Given the description of an element on the screen output the (x, y) to click on. 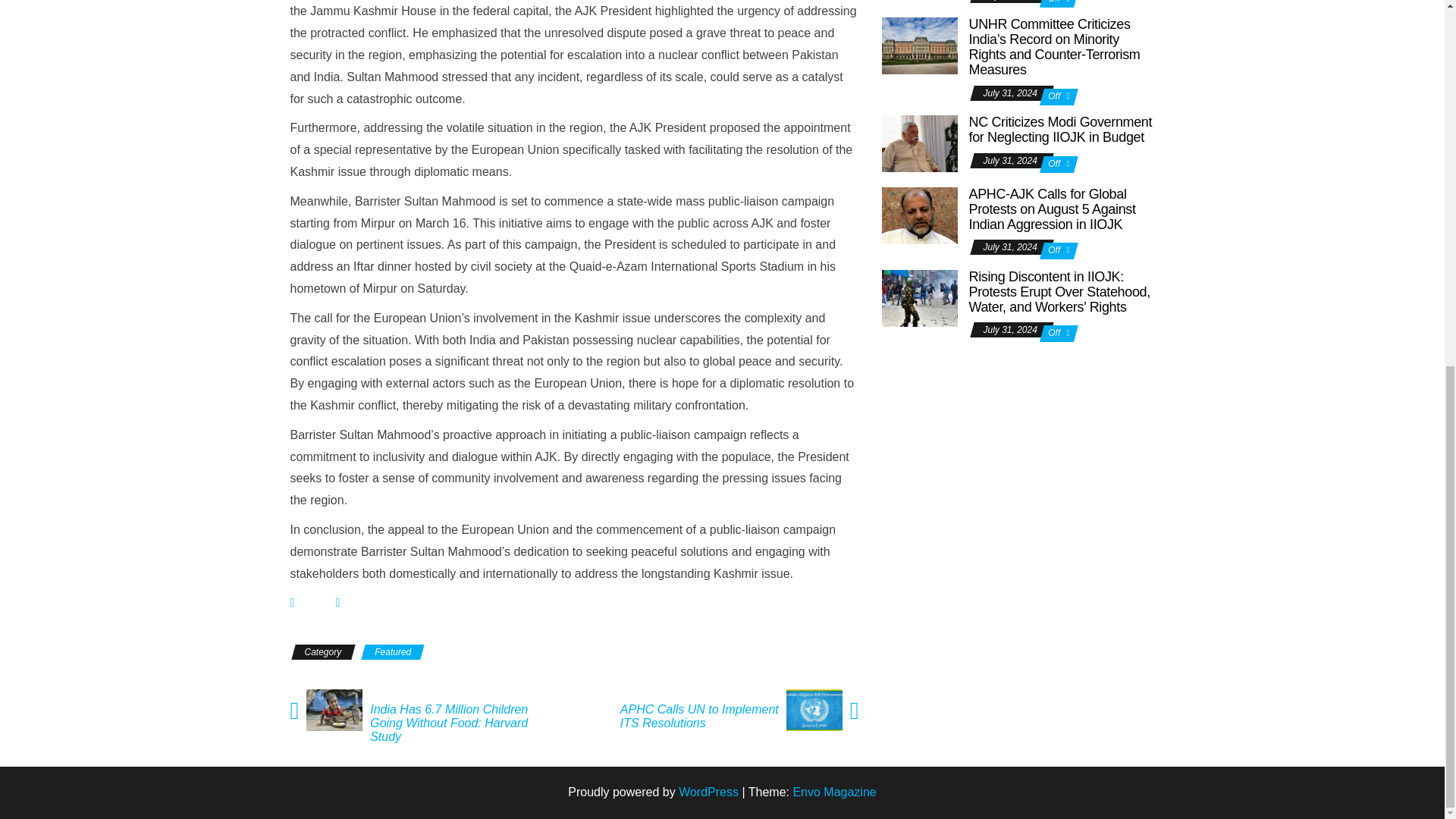
APHC Calls UN to Implement ITS Resolutions (695, 716)
Featured (392, 652)
NC Criticizes Modi Government for Neglecting IIOJK in Budget (1061, 129)
